Given the description of an element on the screen output the (x, y) to click on. 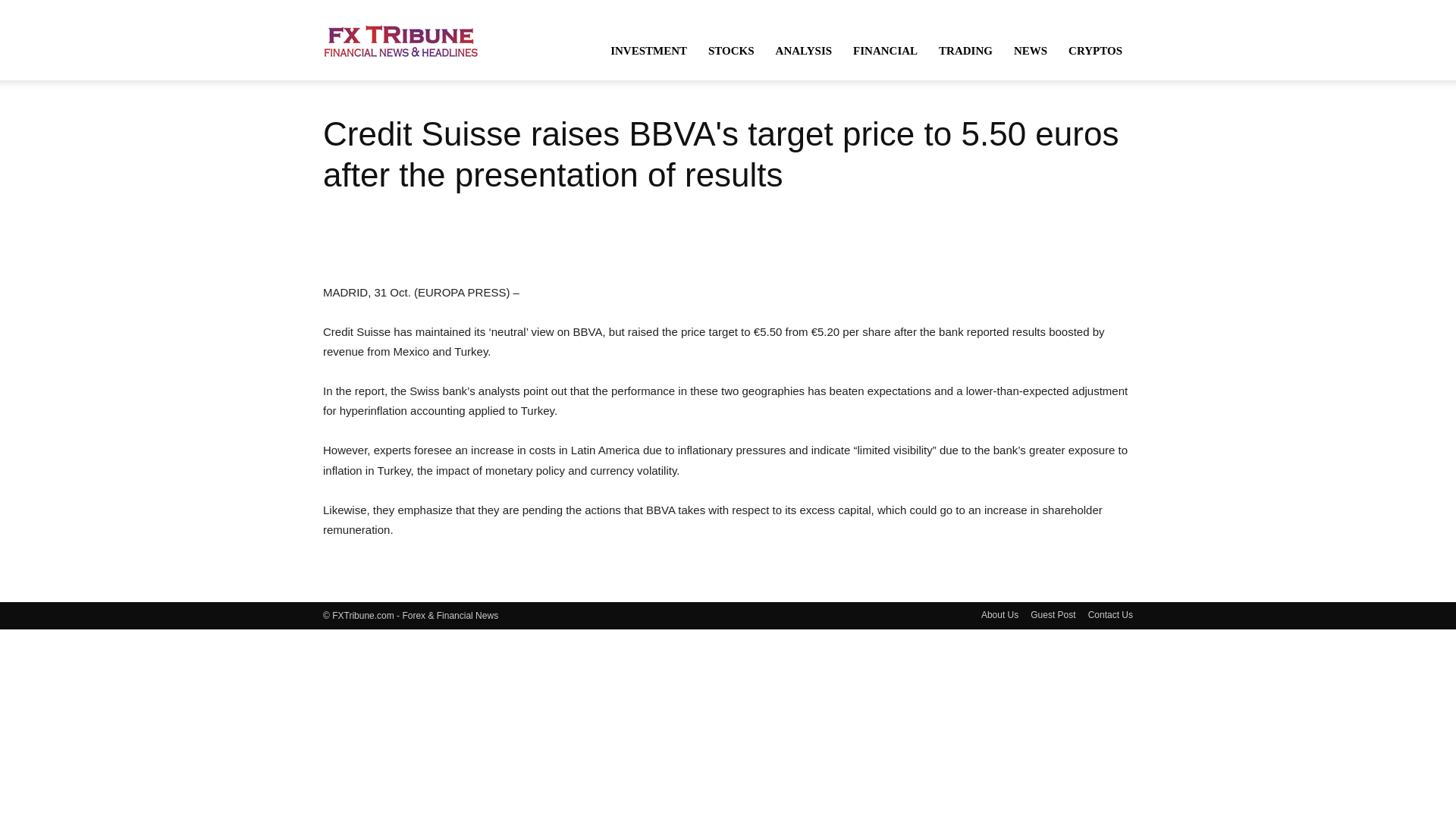
TRADING (965, 50)
Forex News (401, 39)
INVESTMENT (648, 50)
NEWS (1030, 50)
Contact Us (1109, 614)
ANALYSIS (804, 50)
STOCKS (731, 50)
About Us (999, 614)
CRYPTOS (1095, 50)
Guest Post (1052, 614)
FINANCIAL (885, 50)
